Given the description of an element on the screen output the (x, y) to click on. 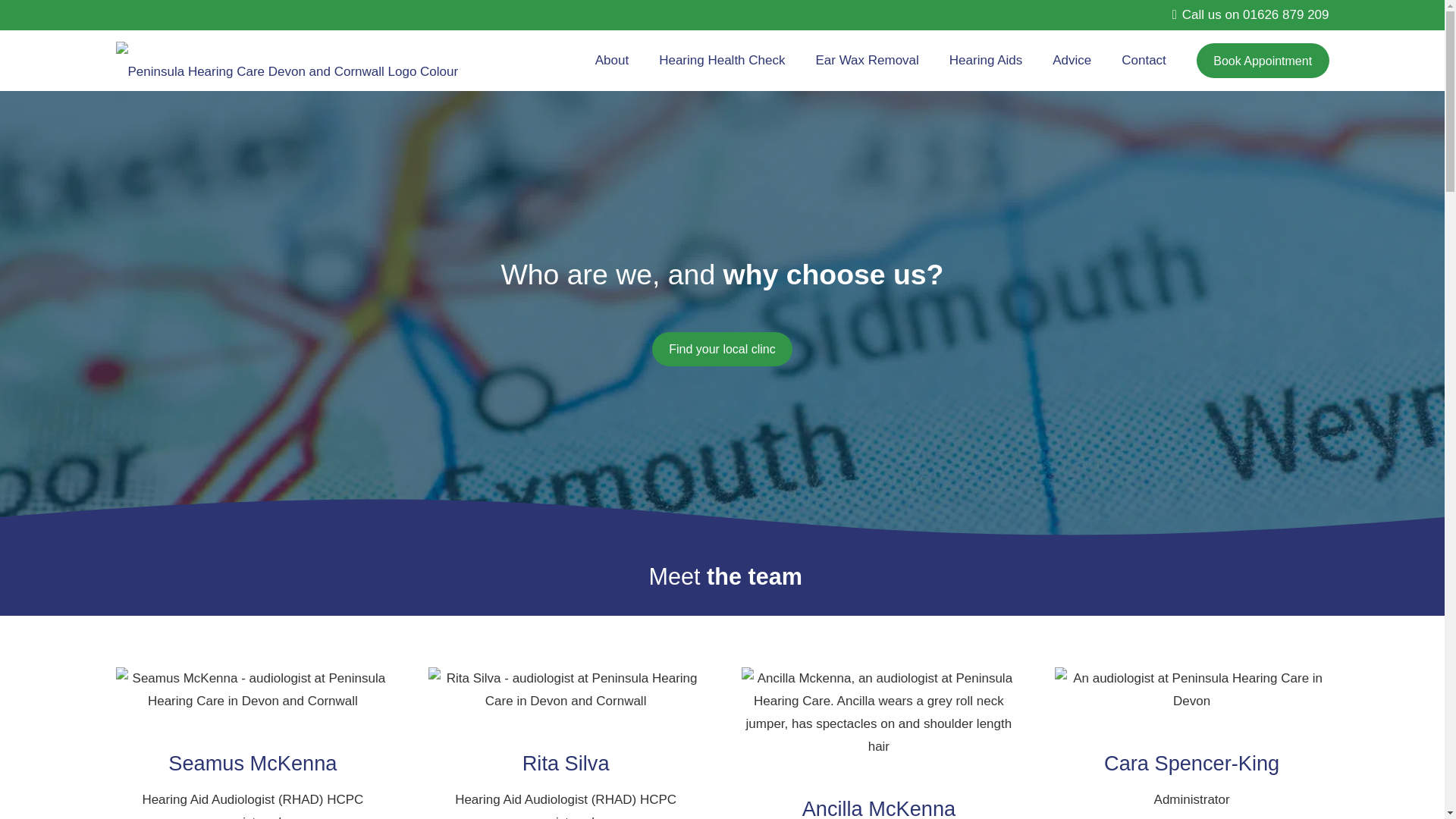
About (611, 60)
Find your local clinc (722, 349)
Advice (1071, 60)
Hearing Health Check (721, 60)
Call us on 01626 879 209 (1250, 14)
Ear Wax Removal (866, 60)
Hearing Aids (985, 60)
Contact (1143, 60)
Book Appointment (1262, 60)
